Given the description of an element on the screen output the (x, y) to click on. 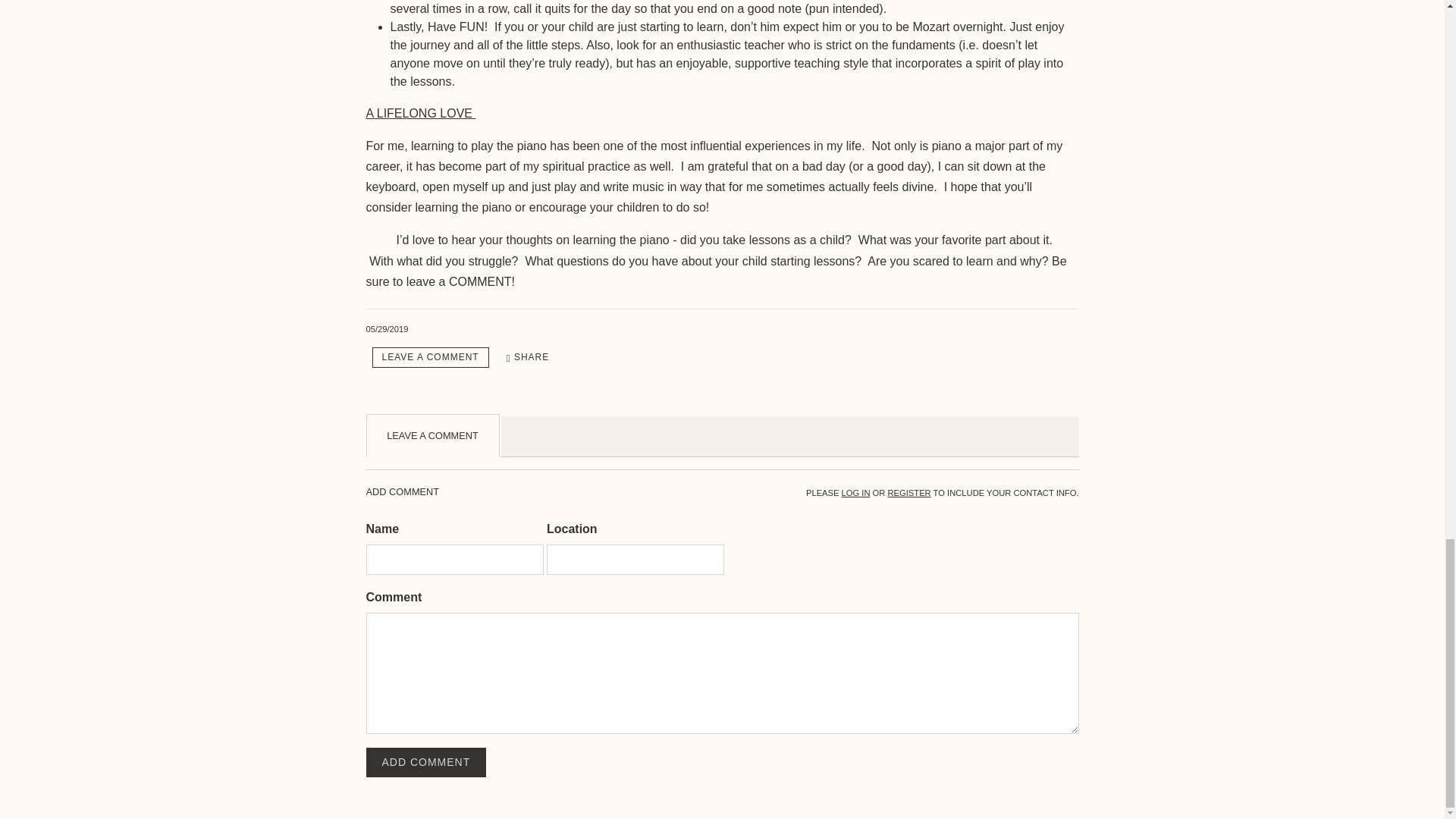
ADD COMMENT (425, 761)
LEAVE A COMMENT (429, 357)
REGISTER (909, 492)
Leave a comment (429, 357)
May 29, 2019 15:29 (386, 328)
Share The Value of Piano Lessons (528, 357)
SHARE (528, 357)
LOG IN (855, 492)
